Given the description of an element on the screen output the (x, y) to click on. 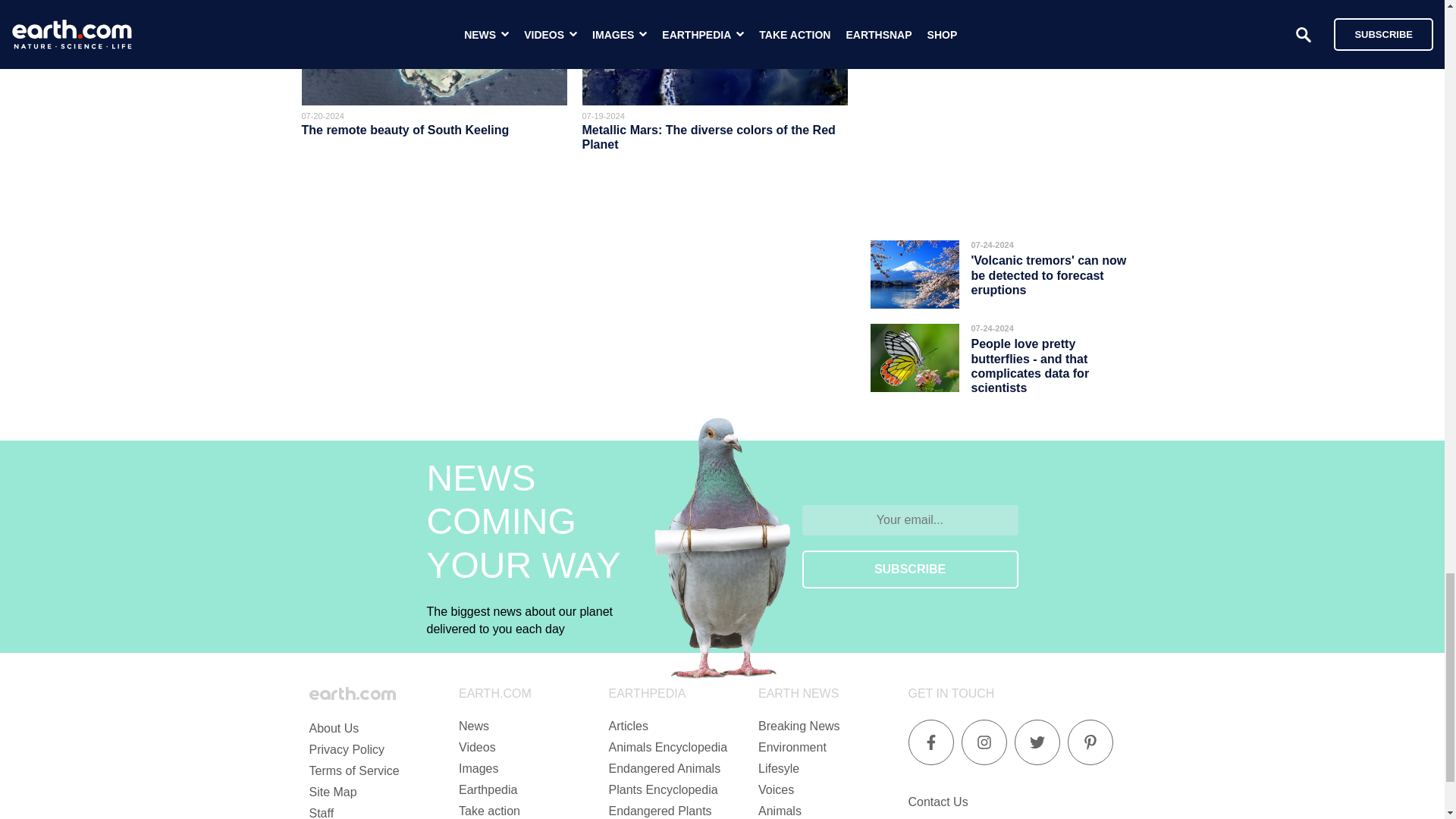
The remote beauty of South Keeling (405, 129)
